Given the description of an element on the screen output the (x, y) to click on. 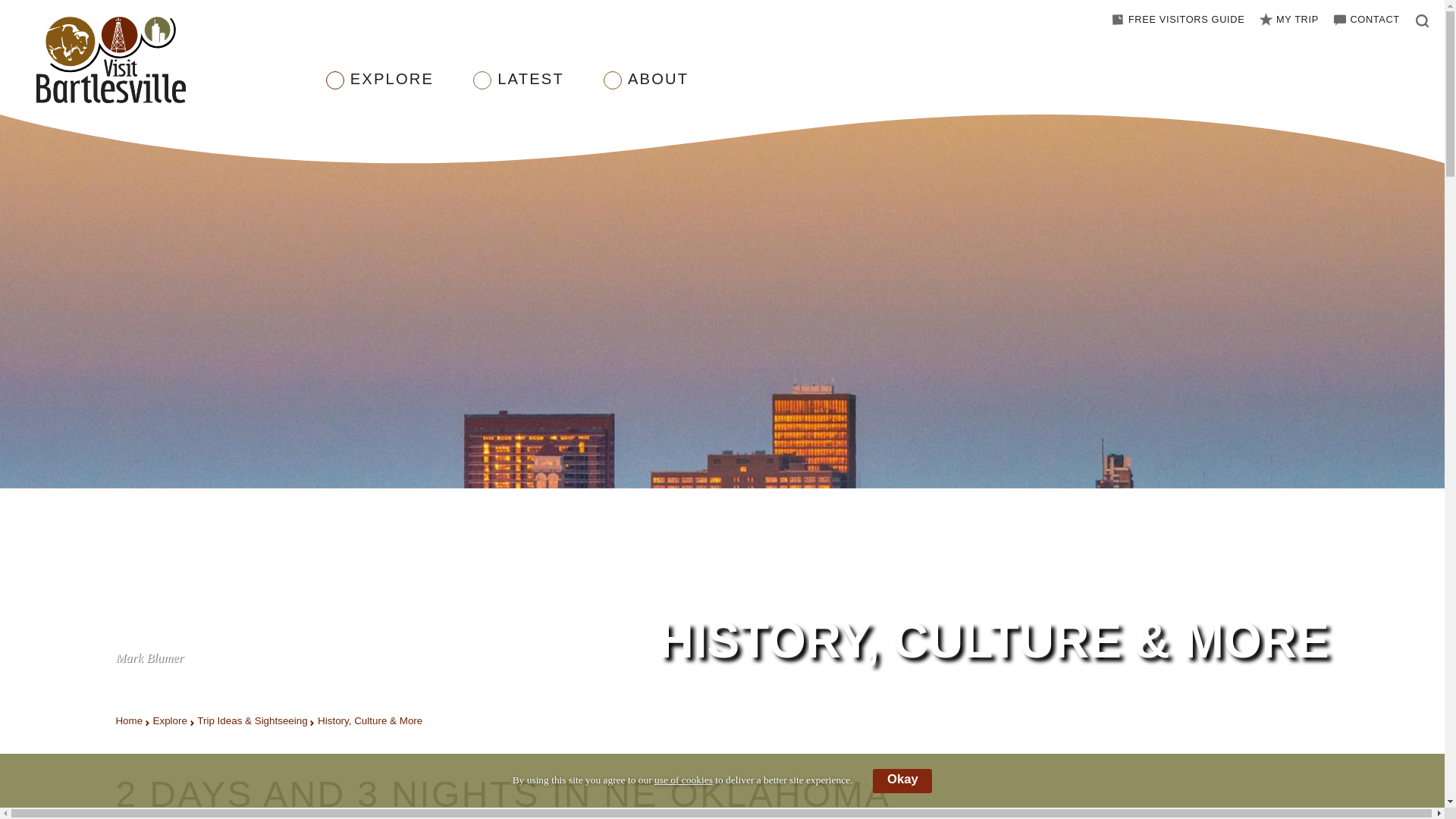
Return to the Visit Bartlesville home page. (167, 61)
Contact Visit Bartlesville (1364, 19)
LATEST (530, 90)
Okay (901, 781)
Home (128, 720)
Explore (169, 720)
Download your Free Visitors Guide (1176, 19)
ABOUT (657, 90)
View your selected My Trip details. (1287, 19)
